Given the description of an element on the screen output the (x, y) to click on. 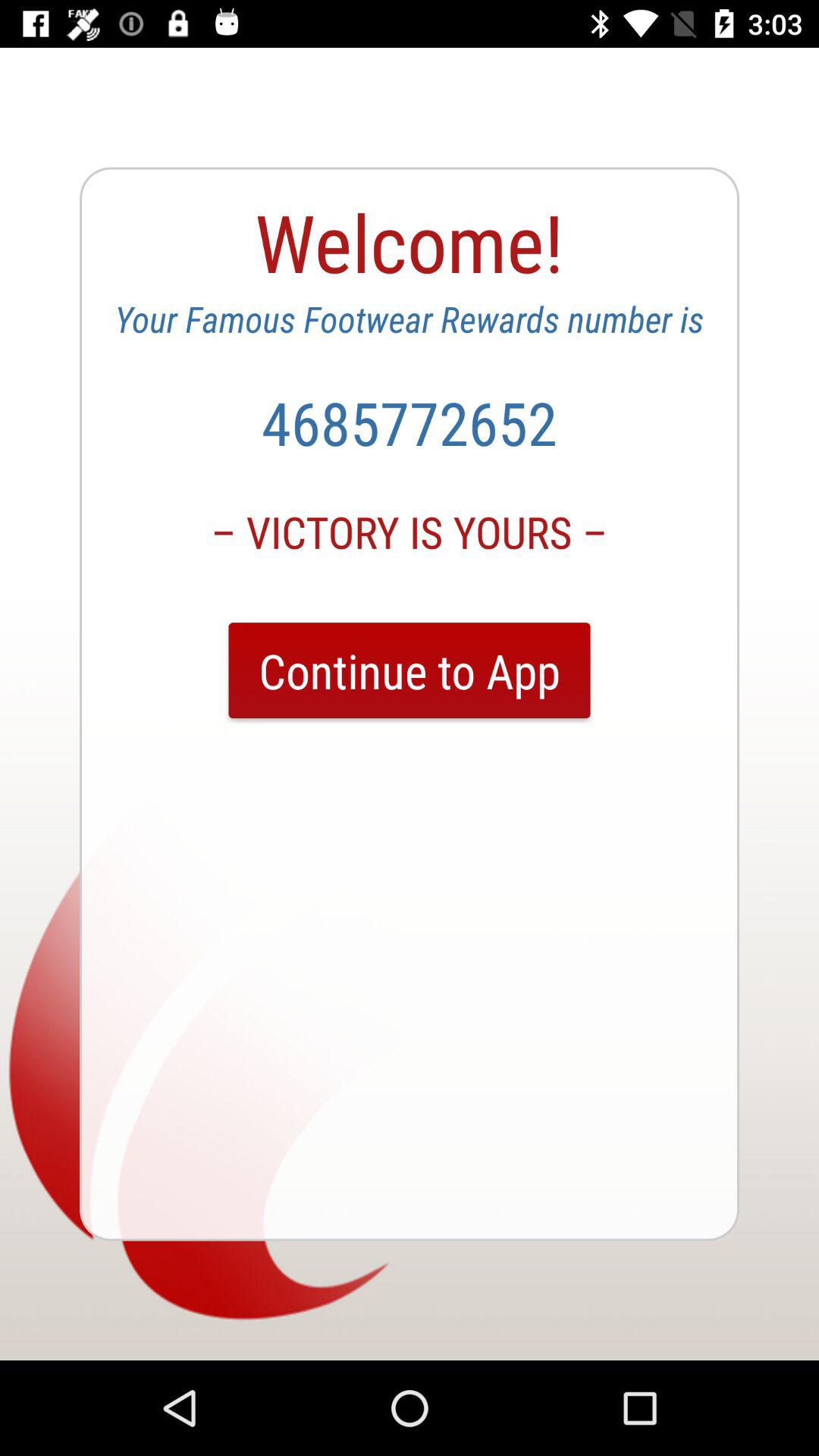
click the continue to app item (409, 670)
